Given the description of an element on the screen output the (x, y) to click on. 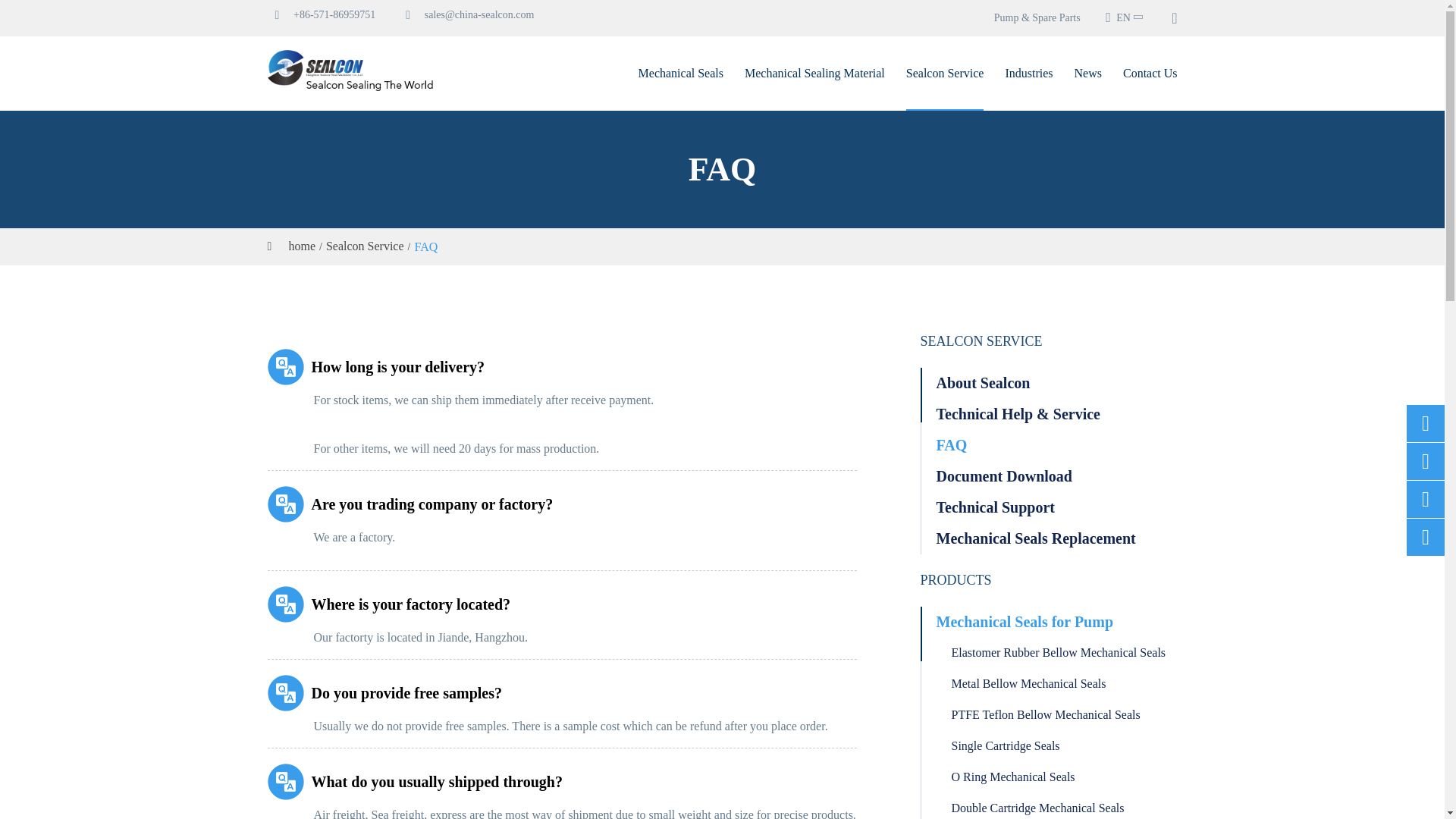
EN (1123, 17)
Mechanical Seals (681, 73)
Mechanical Sealing Material (814, 73)
